Given the description of an element on the screen output the (x, y) to click on. 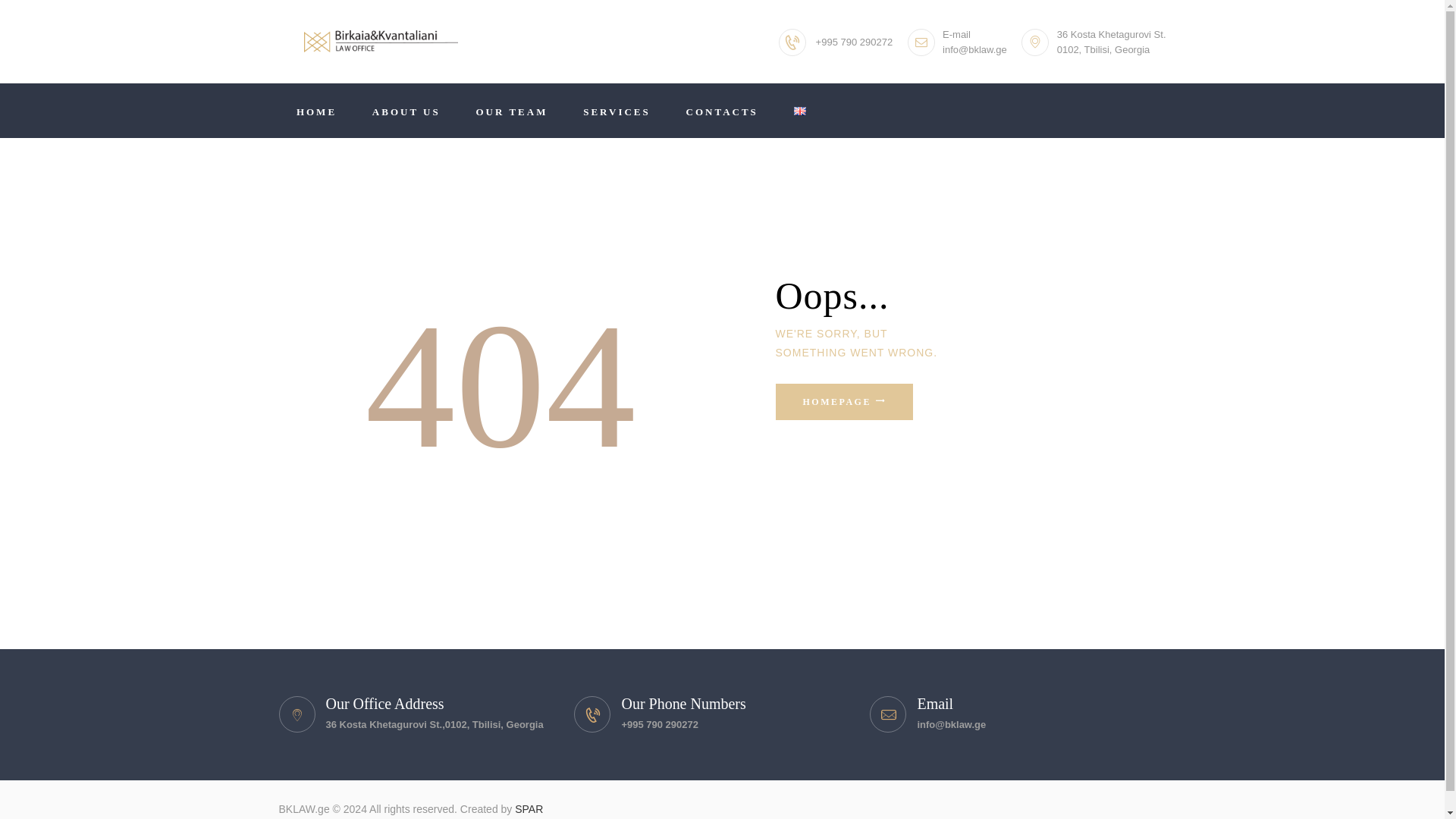
ABOUT US (405, 110)
CONTACTS (722, 110)
HOMEPAGE (843, 402)
SPAR (529, 808)
HOME (317, 110)
SERVICES (617, 110)
OUR TEAM (512, 110)
